Given the description of an element on the screen output the (x, y) to click on. 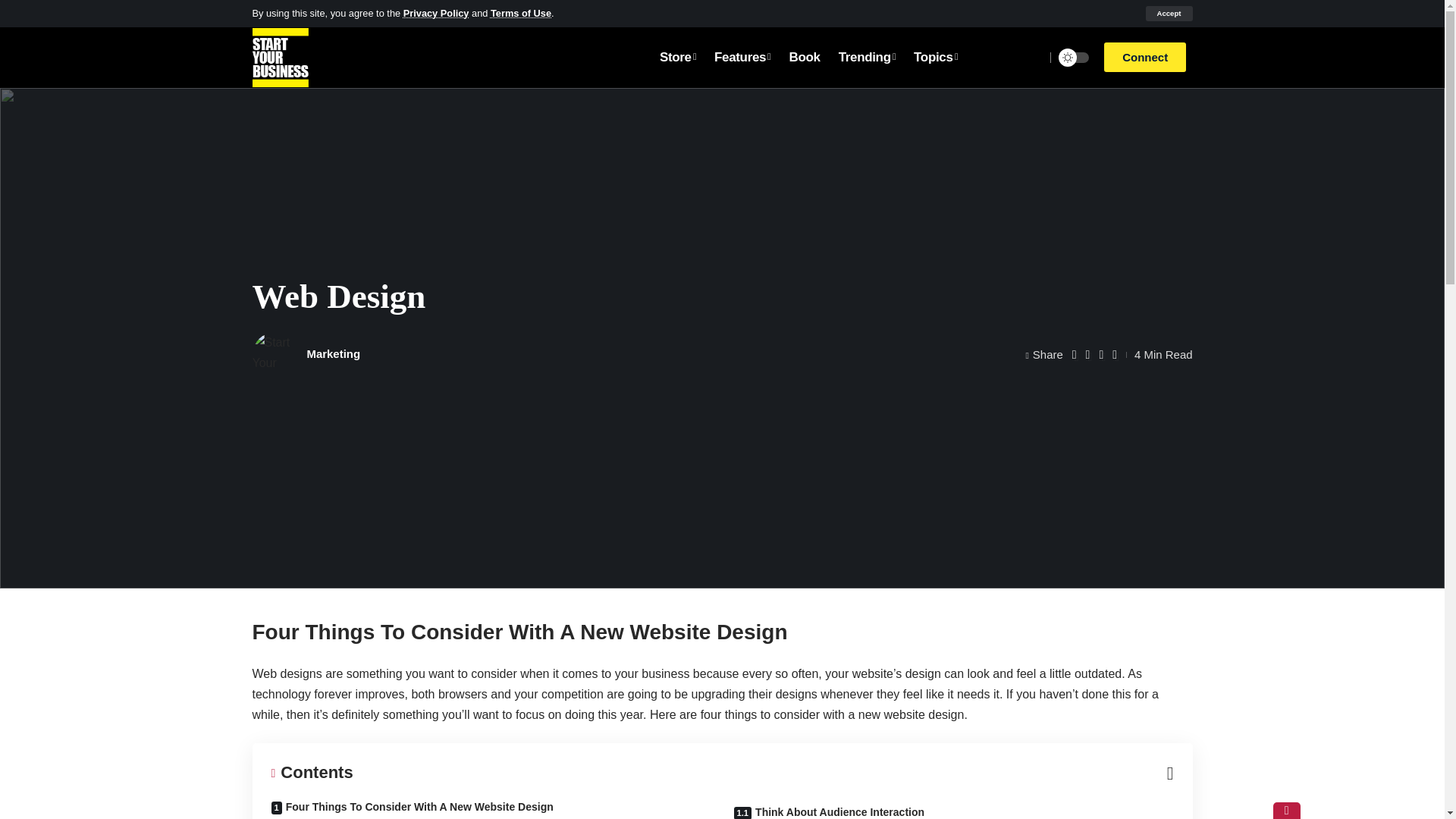
Terms of Use (520, 12)
Trending (866, 57)
Features (742, 57)
Privacy Policy (435, 12)
Store (677, 57)
Accept (1168, 13)
